Given the description of an element on the screen output the (x, y) to click on. 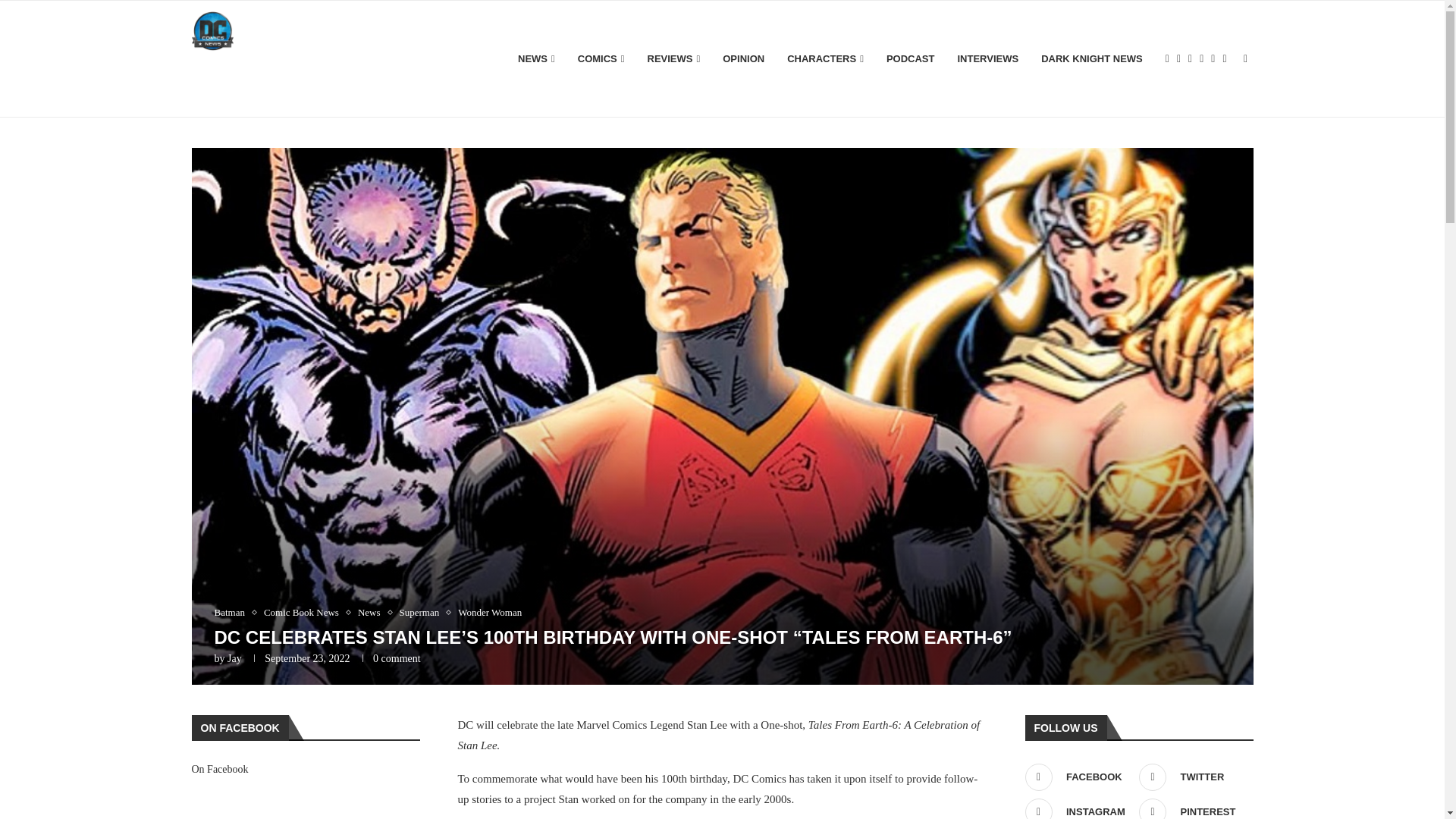
Batman (232, 612)
